Given the description of an element on the screen output the (x, y) to click on. 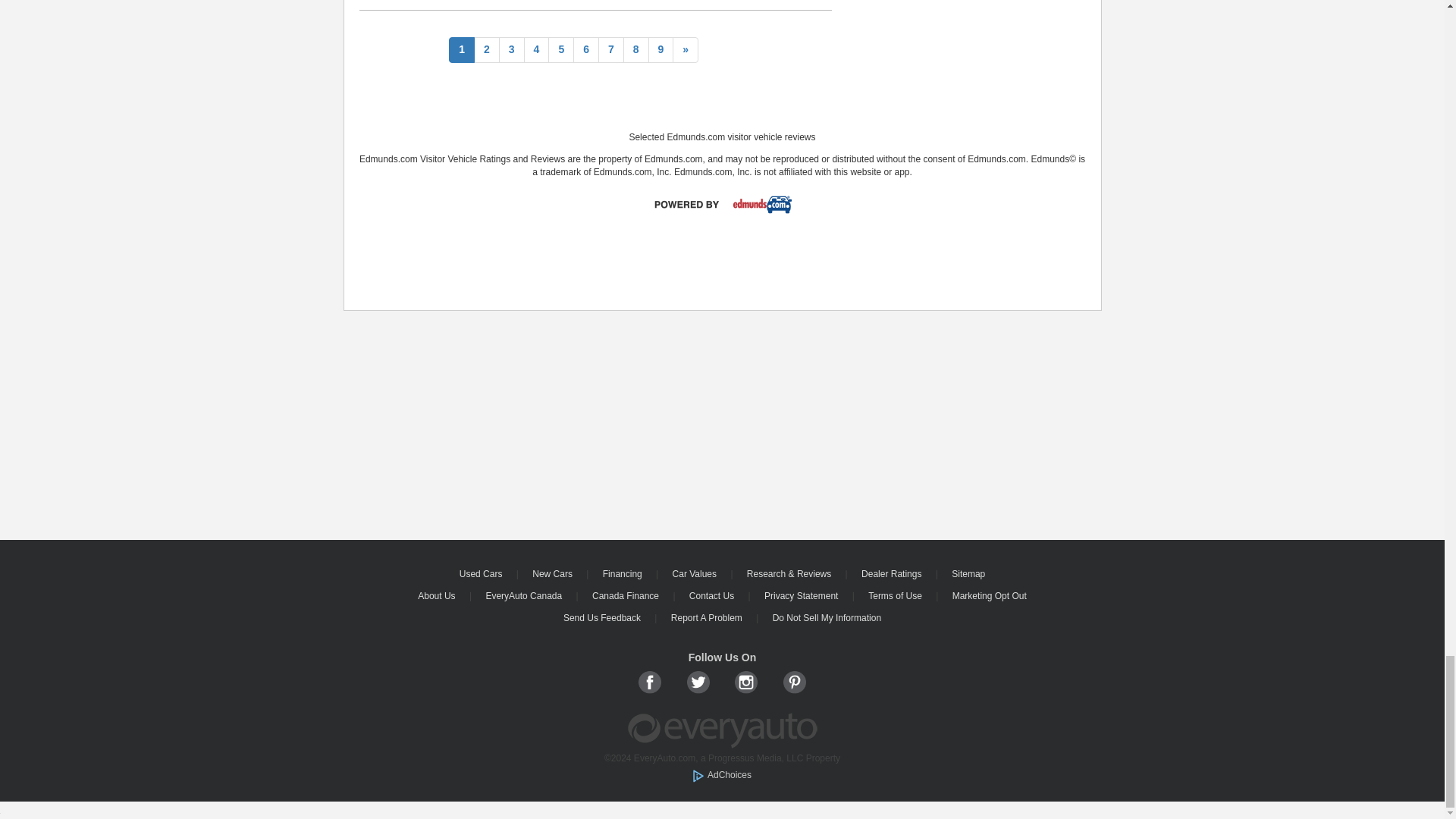
2 (486, 49)
4 (537, 49)
3 (511, 49)
5 (560, 49)
Used Cars (482, 573)
6 (585, 49)
9 (660, 49)
8 (636, 49)
7 (611, 49)
